Given the description of an element on the screen output the (x, y) to click on. 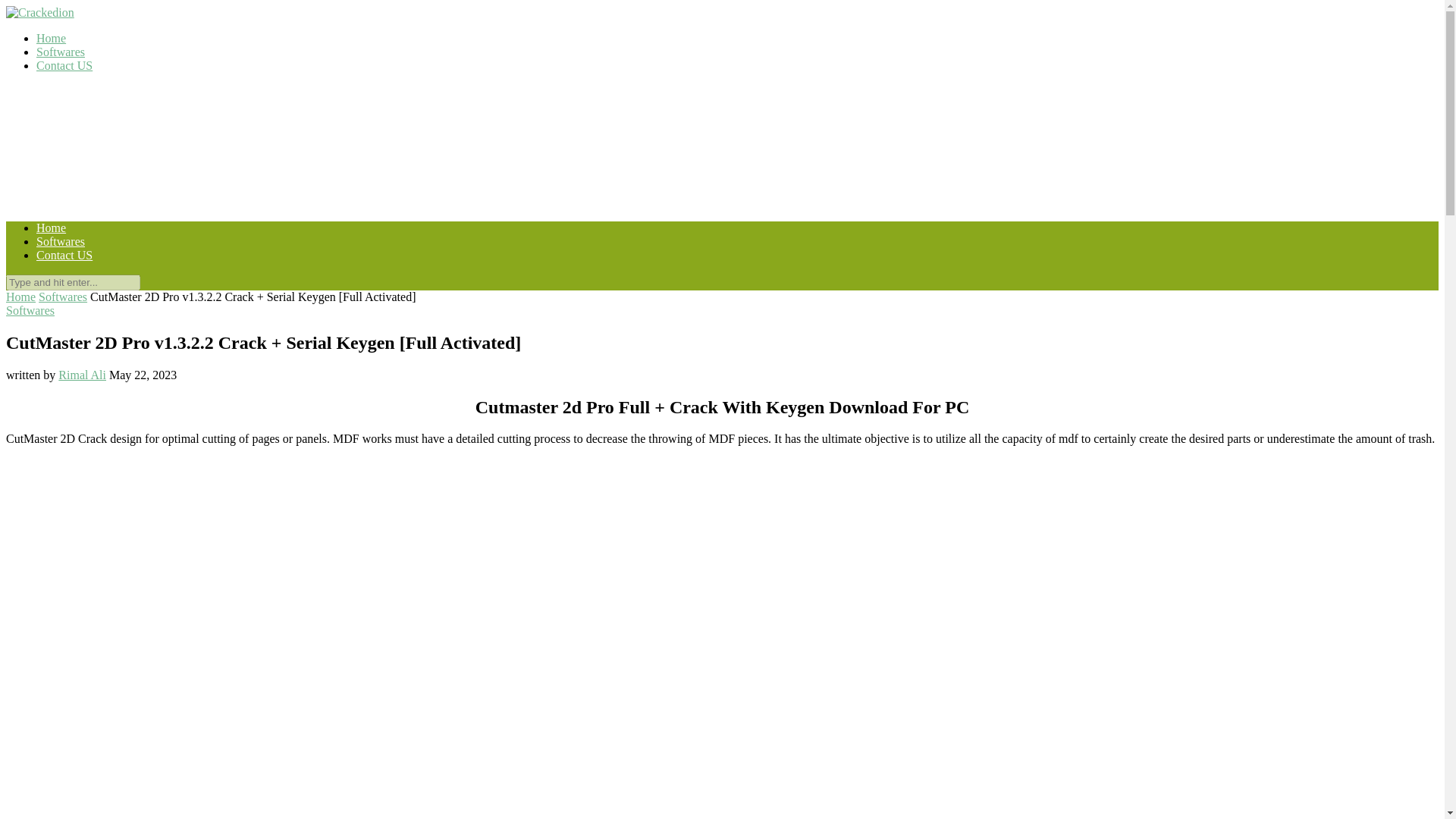
Softwares (60, 241)
Contact US (64, 254)
Home (50, 38)
Softwares (63, 296)
Softwares (30, 309)
Home (19, 296)
Contact US (64, 65)
Softwares (60, 51)
Rimal Ali (82, 374)
Home (50, 227)
